Given the description of an element on the screen output the (x, y) to click on. 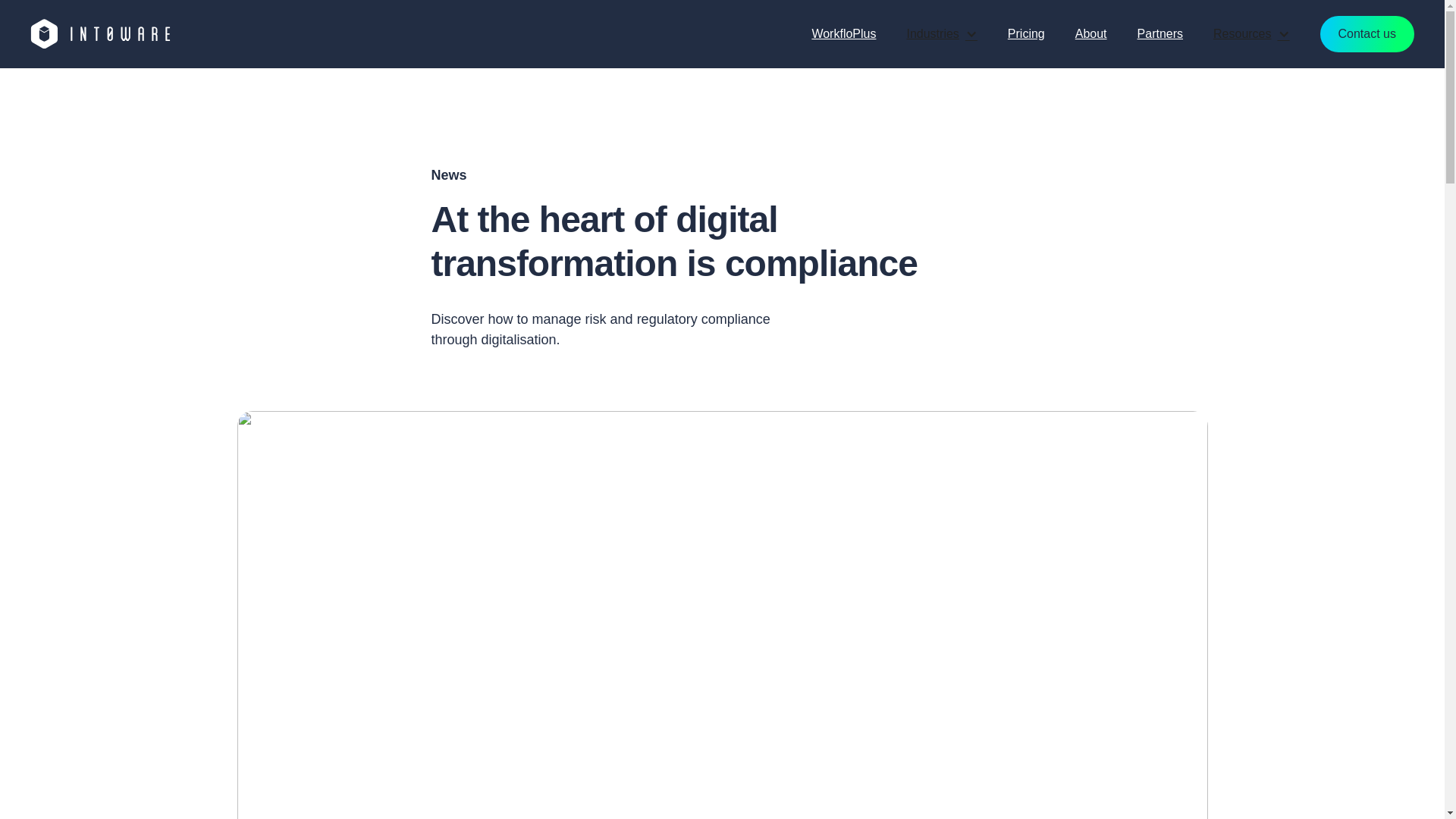
About (1090, 33)
WorkfloPlus (843, 33)
Partners (1160, 33)
Resources (1251, 33)
Pricing (1025, 33)
Industries (941, 33)
Contact us (1366, 33)
